Given the description of an element on the screen output the (x, y) to click on. 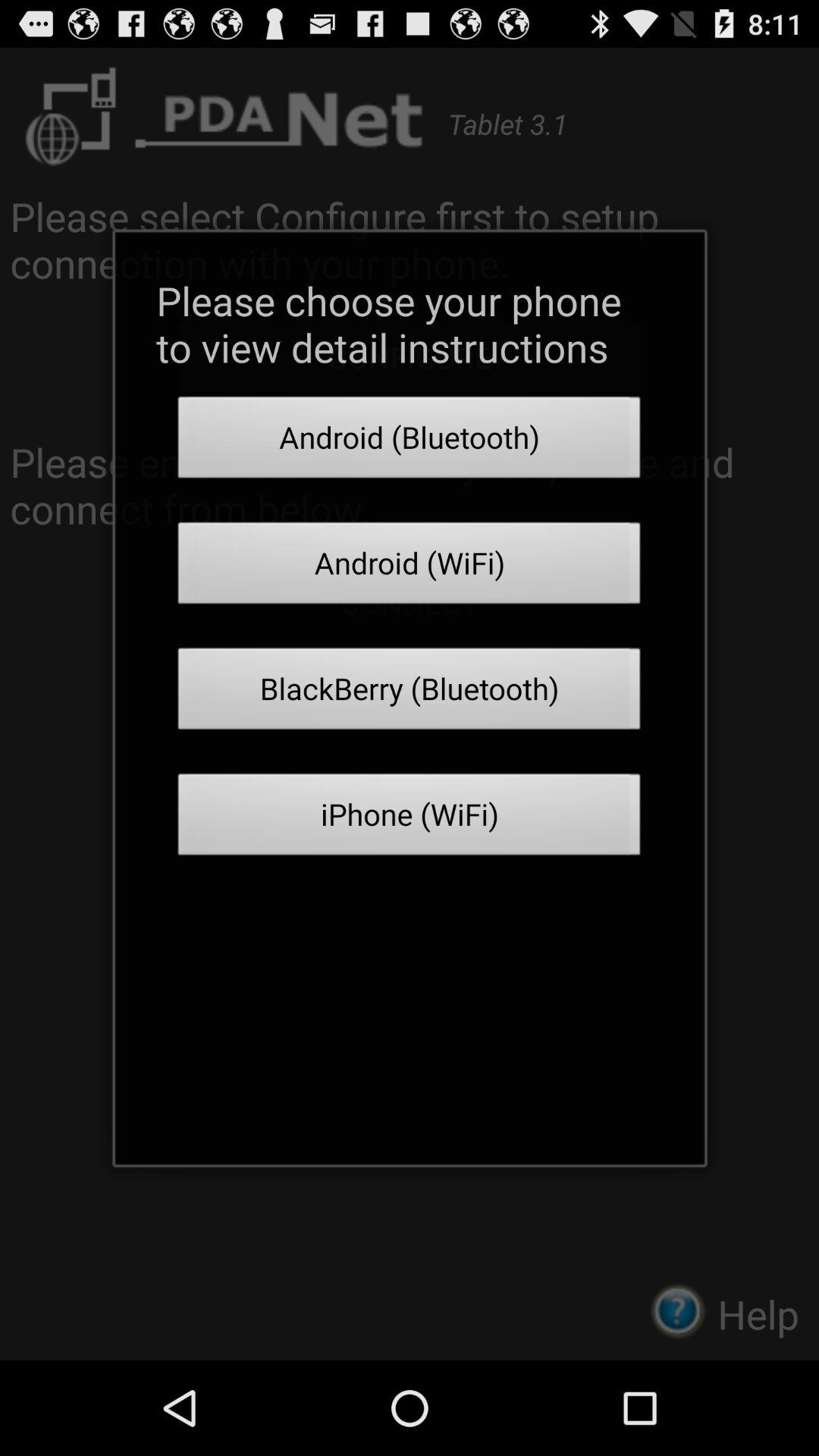
select the item above the iphone (wifi) button (409, 693)
